Given the description of an element on the screen output the (x, y) to click on. 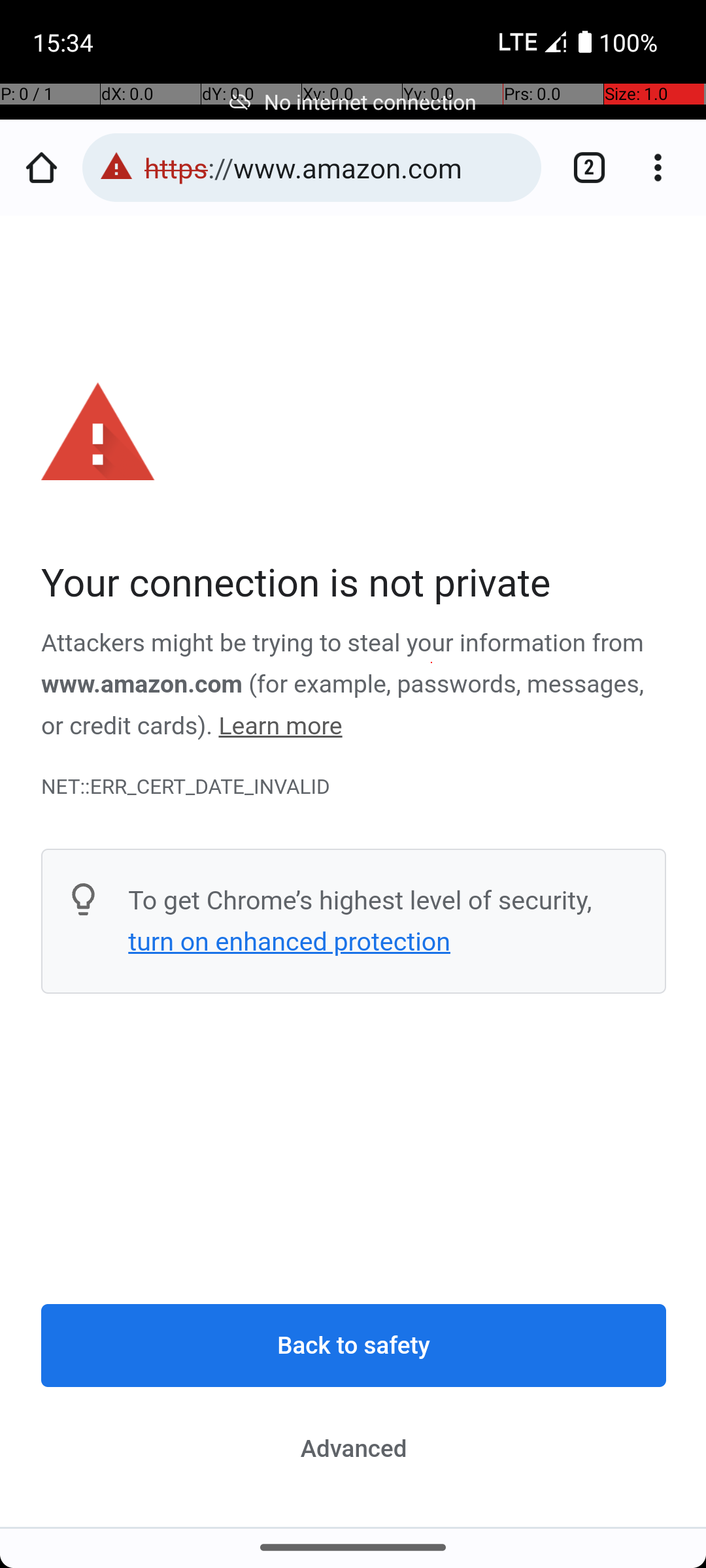
https://www.amazon.com Element type: android.widget.EditText (335, 167)
www.amazon.com Element type: android.widget.TextView (142, 684)
